Given the description of an element on the screen output the (x, y) to click on. 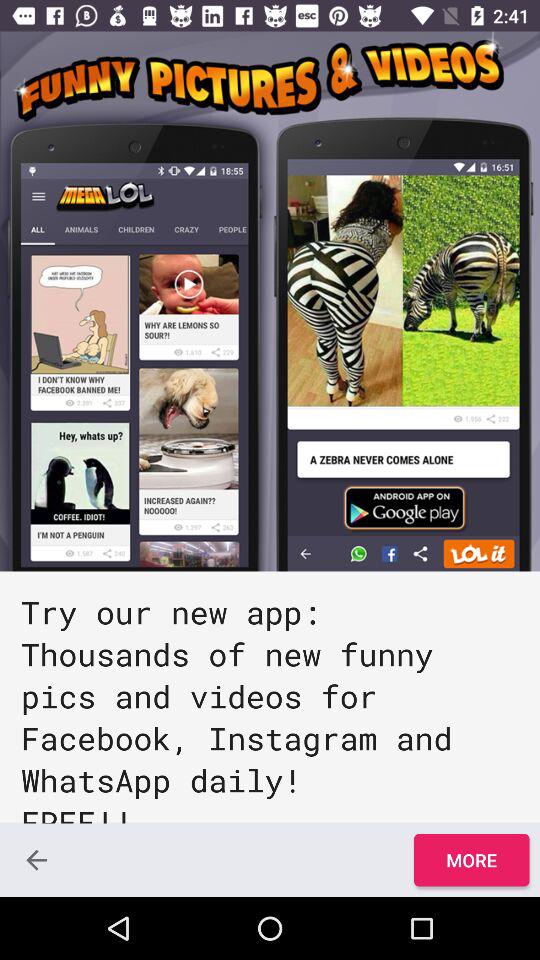
flip to more icon (471, 859)
